Given the description of an element on the screen output the (x, y) to click on. 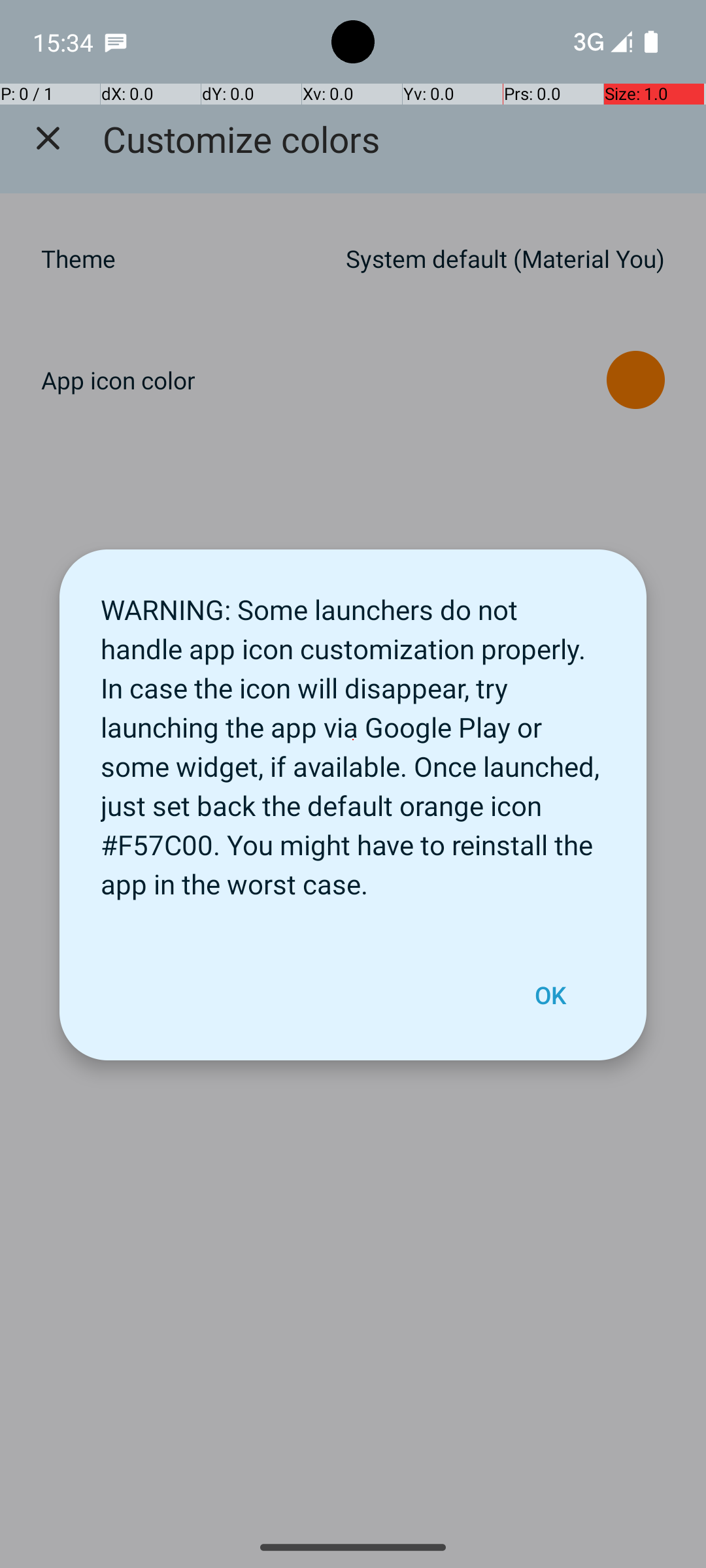
WARNING: Some launchers do not handle app icon customization properly. In case the icon will disappear, try launching the app via Google Play or some widget, if available. Once launched, just set back the default orange icon #F57C00. You might have to reinstall the app in the worst case. Element type: android.widget.TextView (352, 739)
